Given the description of an element on the screen output the (x, y) to click on. 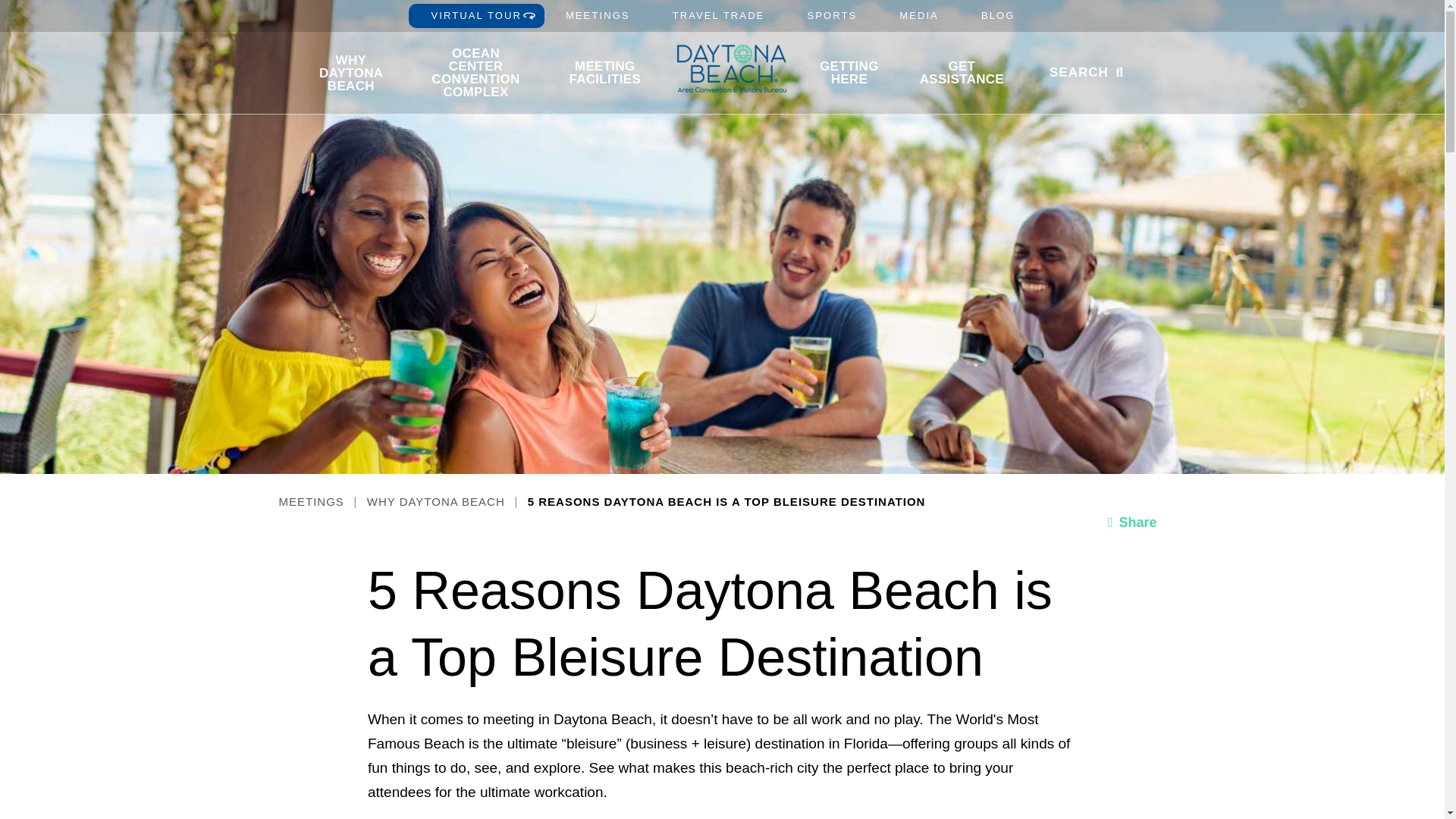
WHY DAYTONA BEACH (350, 72)
TRAVEL TRADE (718, 15)
SPORTS (831, 15)
VIRTUAL TOUR (476, 15)
MEETINGS (597, 15)
BLOG (997, 15)
MEDIA (918, 15)
